Given the description of an element on the screen output the (x, y) to click on. 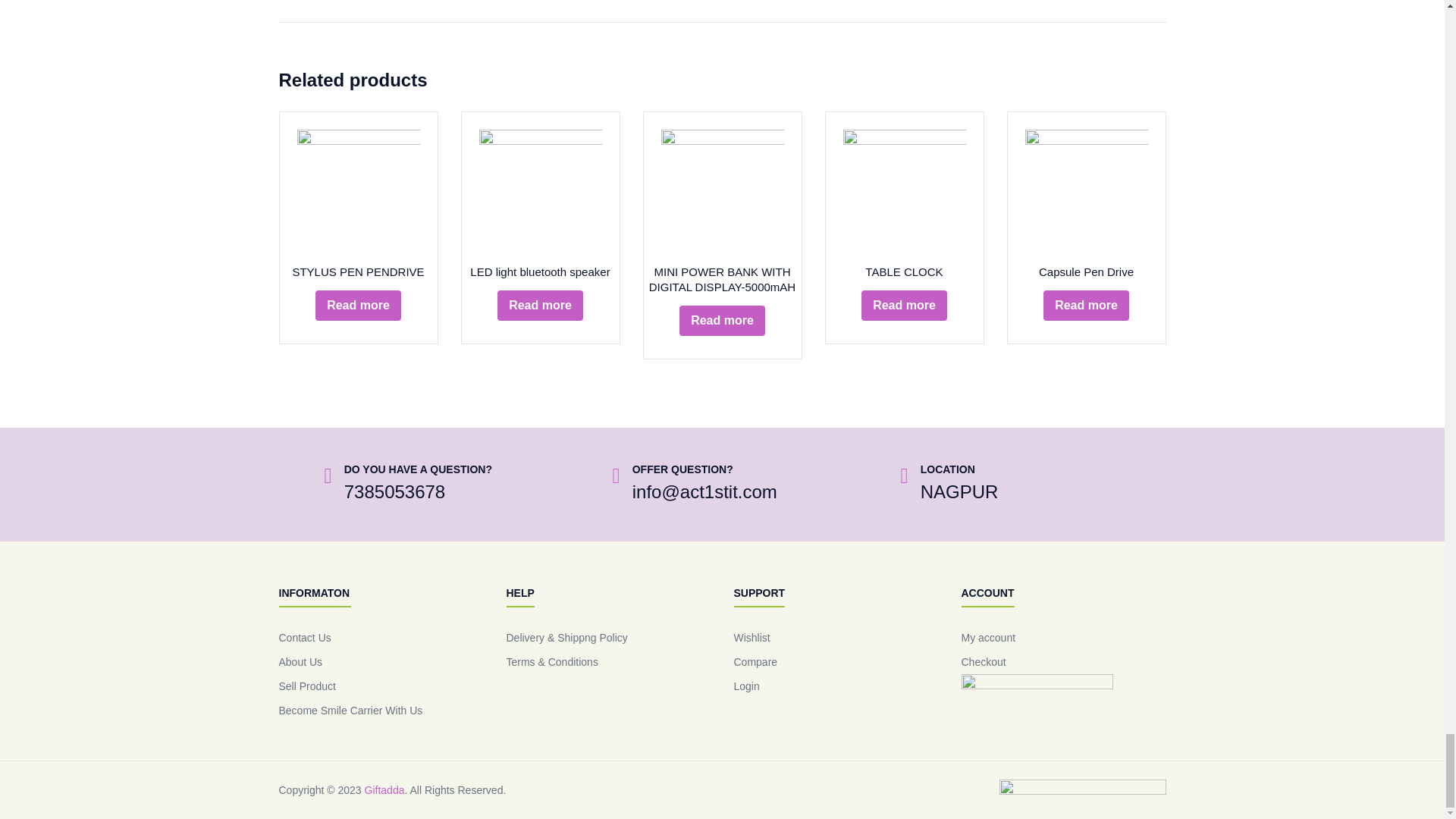
MINI POWER BANK WITH DIGITAL DISPLAY-5000mAH (722, 190)
LED light bluetooth speaker (540, 190)
Read more (539, 305)
STYLUS PEN PENDRIVE (358, 190)
Read more (357, 305)
